Given the description of an element on the screen output the (x, y) to click on. 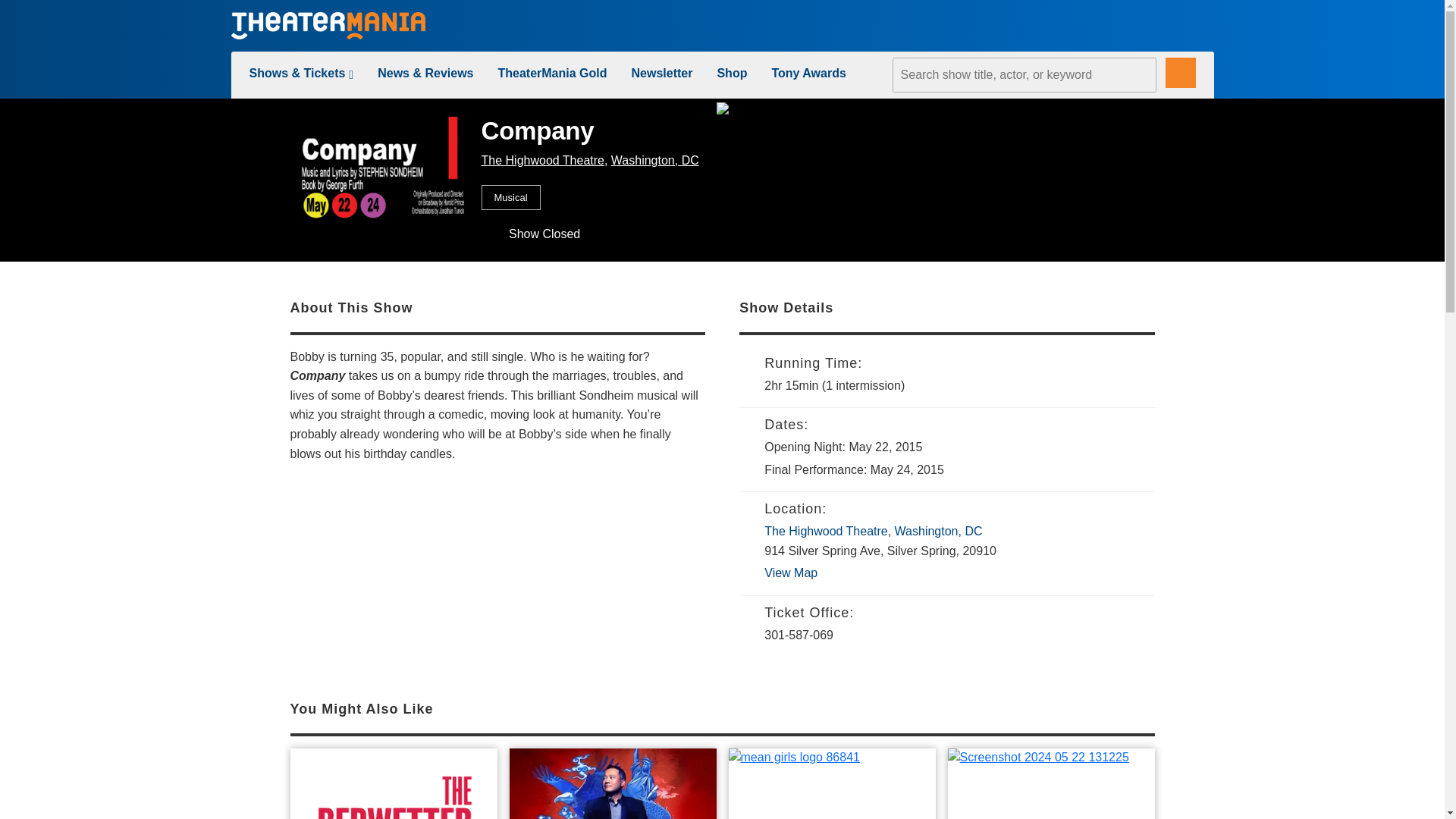
Shop (731, 72)
Tony Awards (808, 72)
Newsletter (662, 72)
new-and-reviews-link (425, 72)
TheaterMania Gold (552, 72)
